Given the description of an element on the screen output the (x, y) to click on. 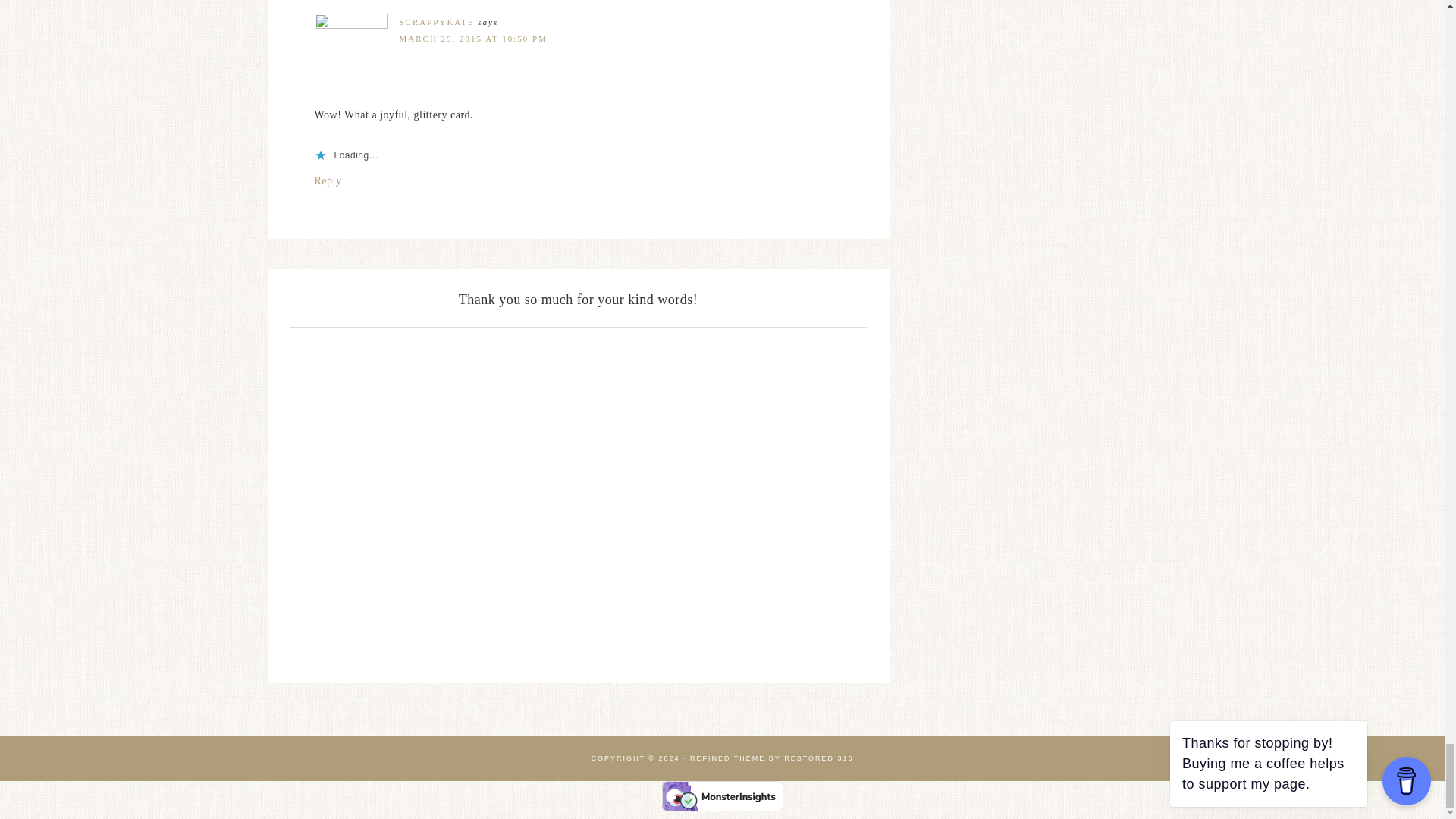
Verified by MonsterInsights (722, 796)
